Given the description of an element on the screen output the (x, y) to click on. 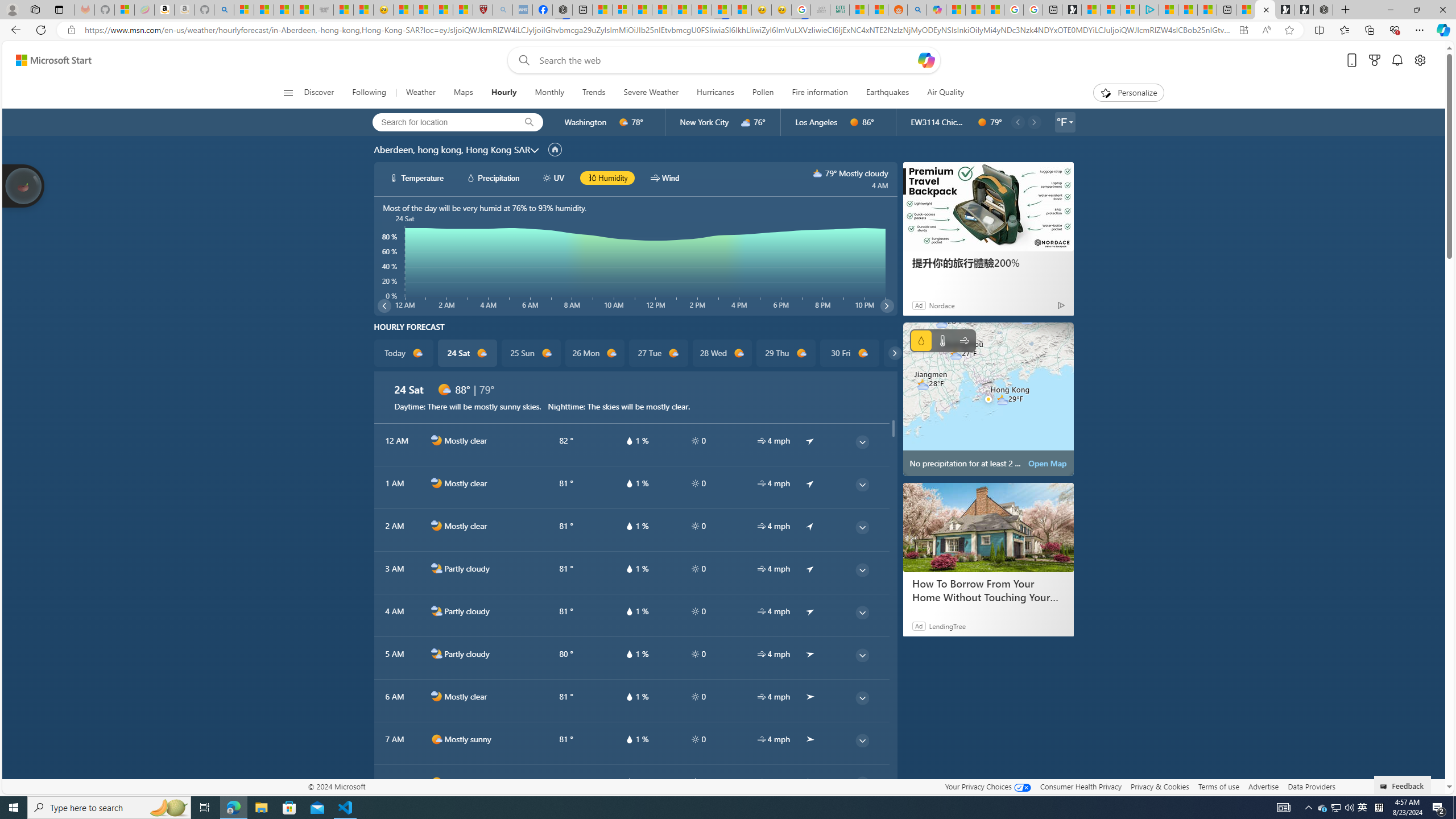
locationName/setHomeLocation (555, 149)
Trends (593, 92)
d1000 (436, 781)
Maps (462, 92)
Data Providers (1311, 786)
hourlyChart/humidityBlack (591, 177)
